Given the description of an element on the screen output the (x, y) to click on. 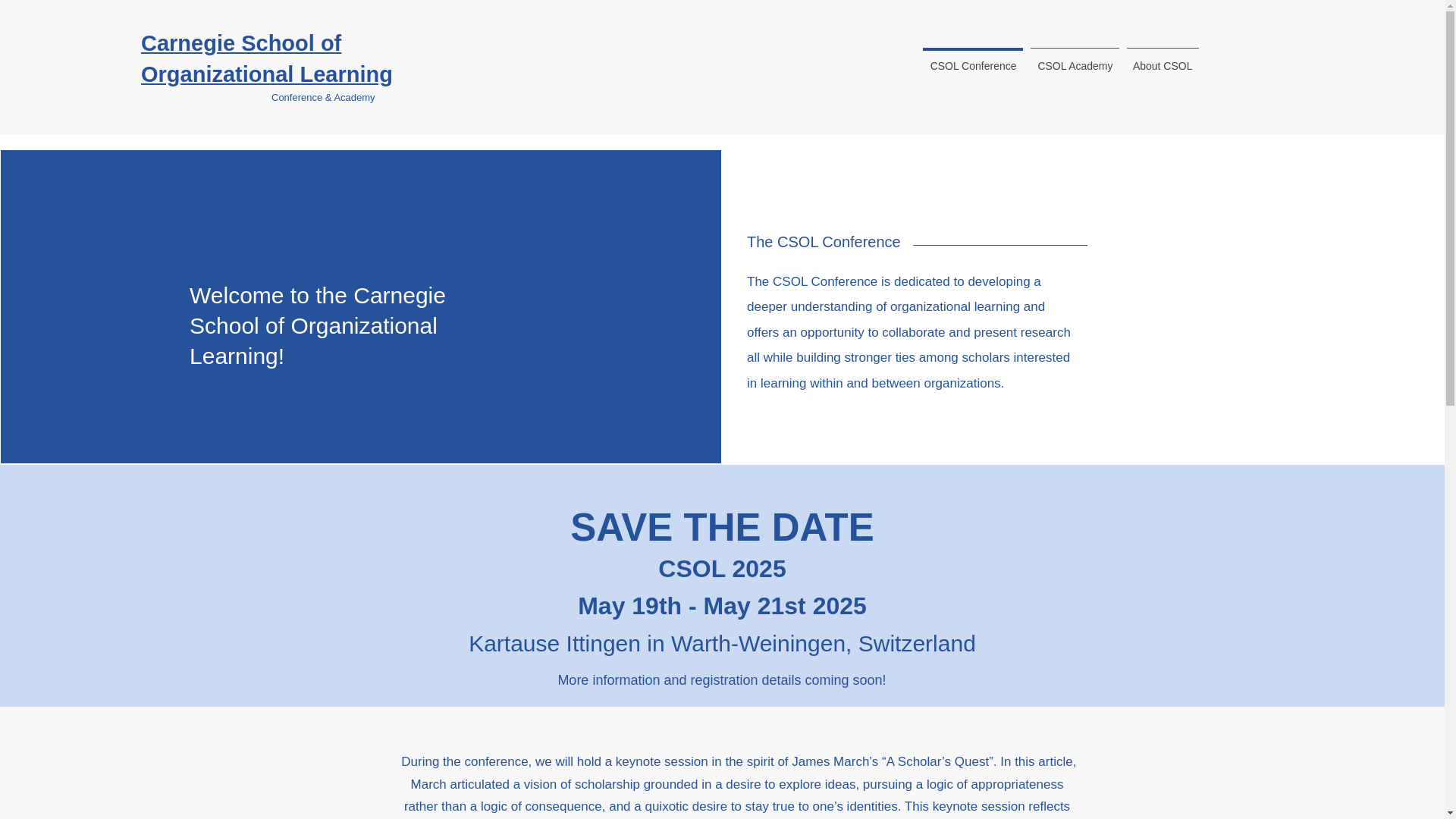
CSOL Conference (972, 58)
CSOL Academy (1074, 58)
About CSOL (1162, 58)
Carnegie School of Organizational Learning (267, 58)
